Given the description of an element on the screen output the (x, y) to click on. 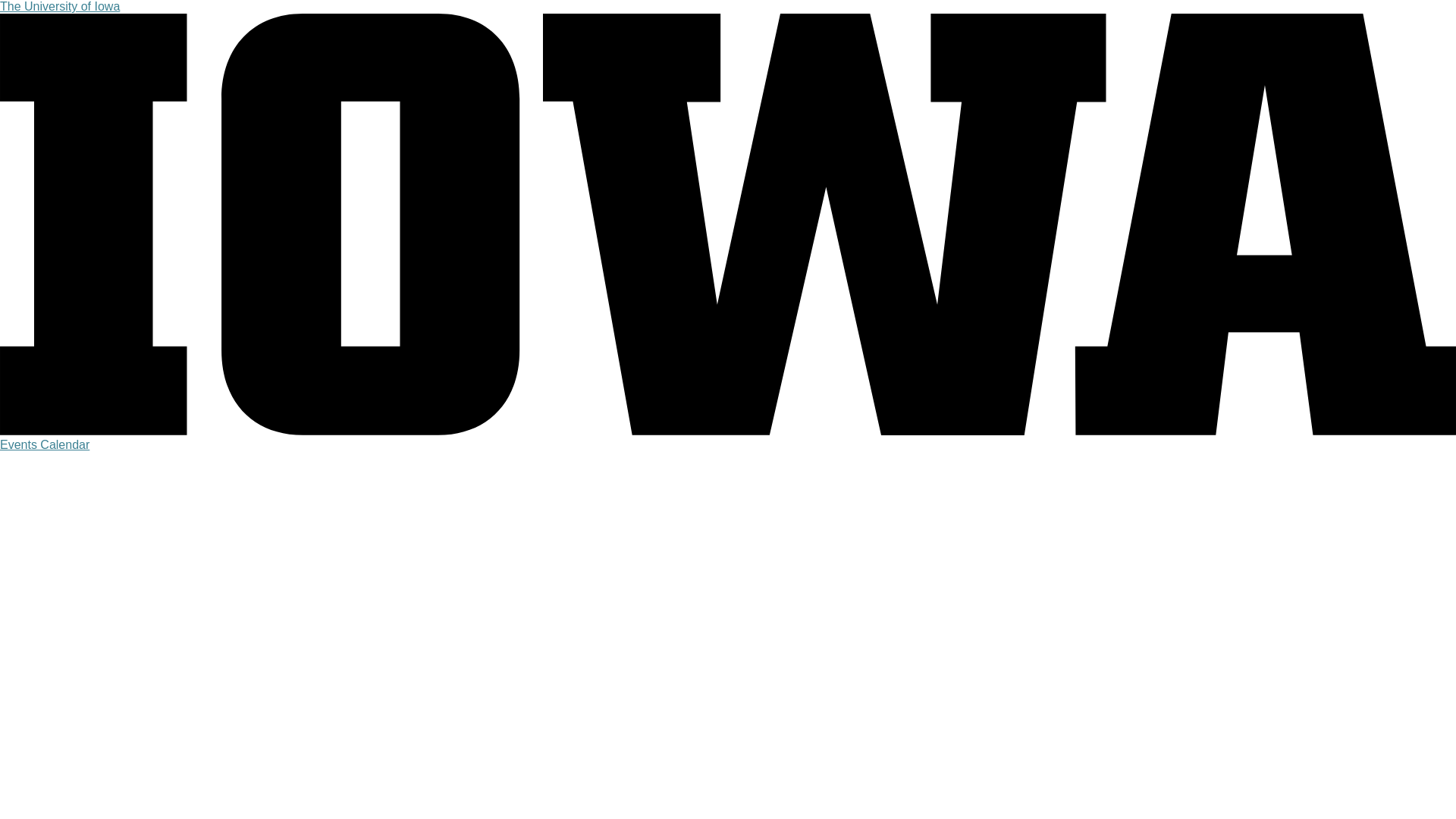
Events Calendar home (44, 444)
Events Calendar (44, 444)
